Given the description of an element on the screen output the (x, y) to click on. 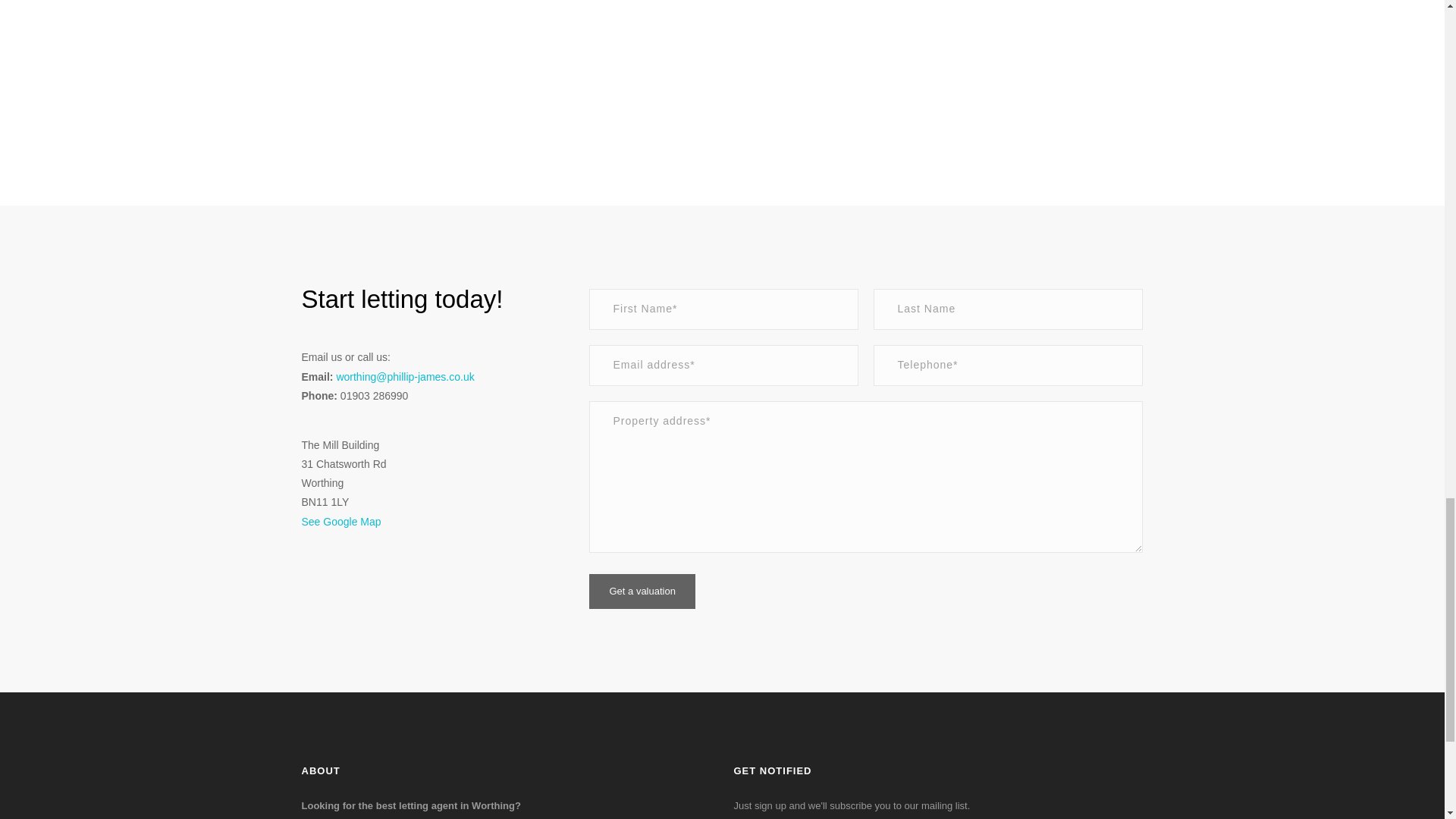
Get a valuation (641, 591)
